Given the description of an element on the screen output the (x, y) to click on. 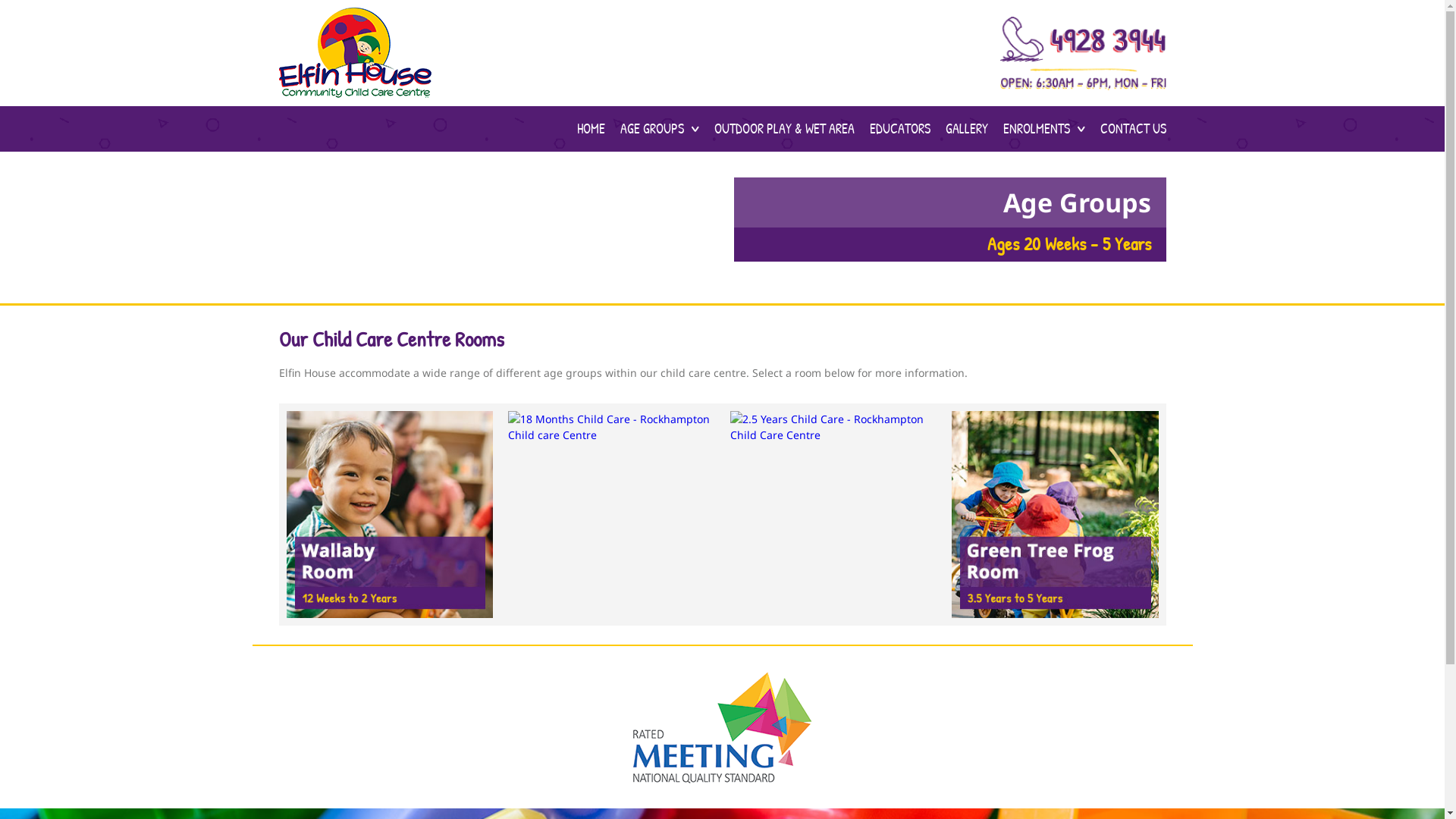
AGE GROUPS Element type: text (652, 128)
EDUCATORS Element type: text (899, 128)
HOME Element type: text (590, 128)
ENROLMENTS Element type: text (1035, 128)
CONTACT US Element type: text (1132, 128)
OUTDOOR PLAY & WET AREA Element type: text (784, 128)
GALLERY Element type: text (965, 128)
